Given the description of an element on the screen output the (x, y) to click on. 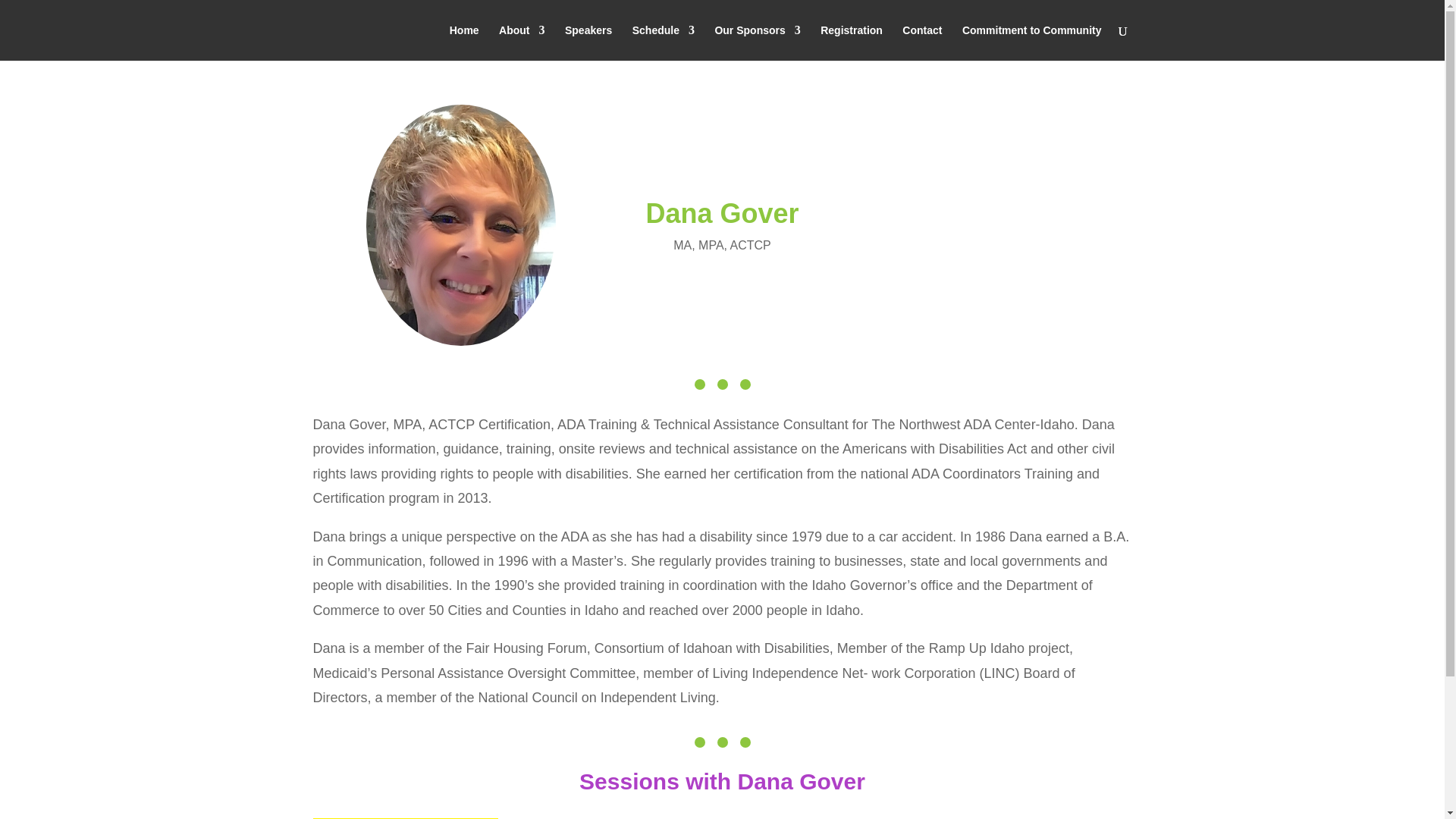
Speakers (587, 42)
Registration (851, 42)
Schedule (662, 42)
Our Sponsors (756, 42)
About (521, 42)
Commitment to Community (1032, 42)
Contact (922, 42)
